Given the description of an element on the screen output the (x, y) to click on. 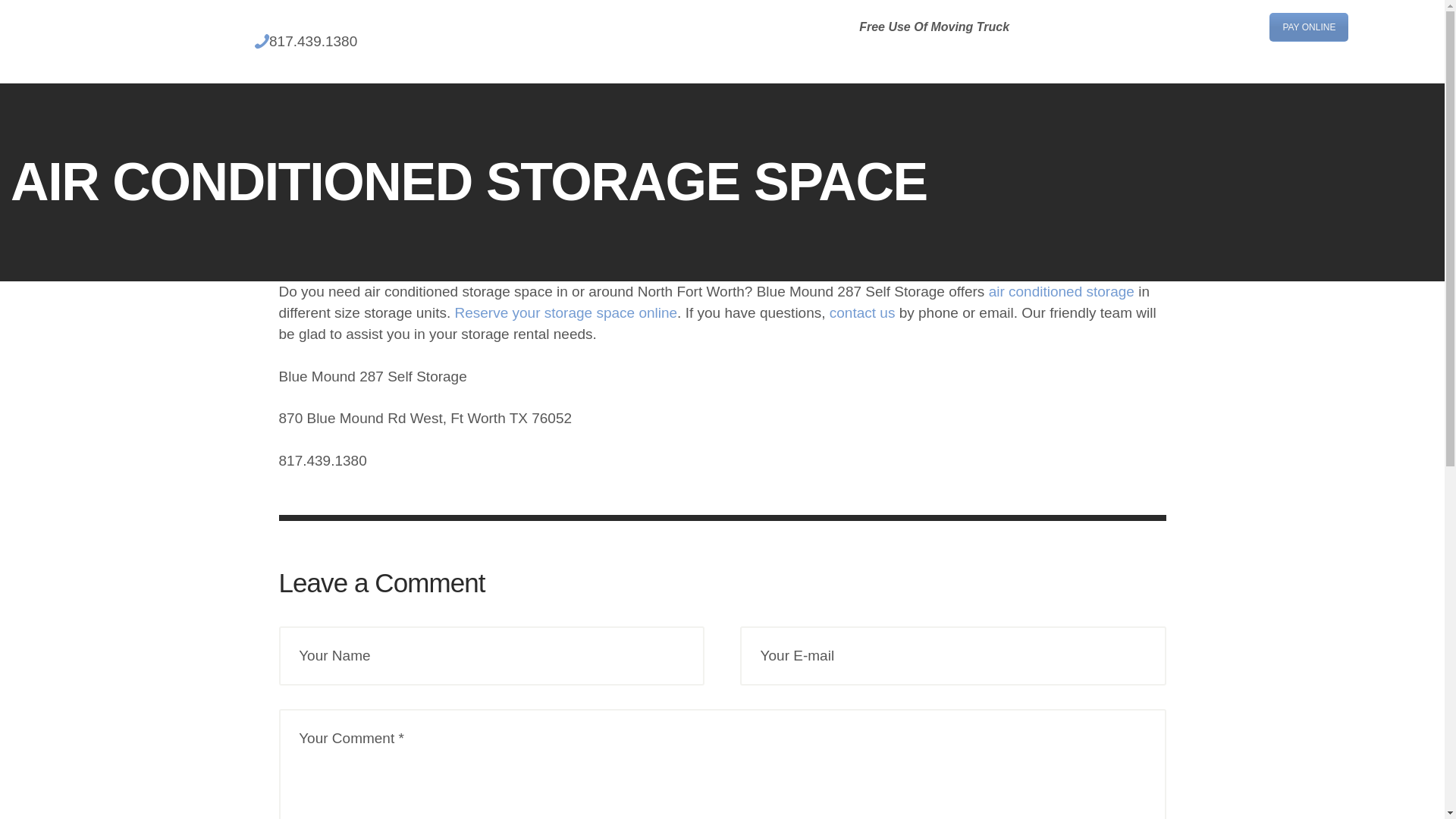
contact us (862, 312)
Pay Online (1308, 27)
PAY ONLINE (1308, 27)
air conditioned storage (1061, 291)
Reserve your storage space online (566, 312)
